Given the description of an element on the screen output the (x, y) to click on. 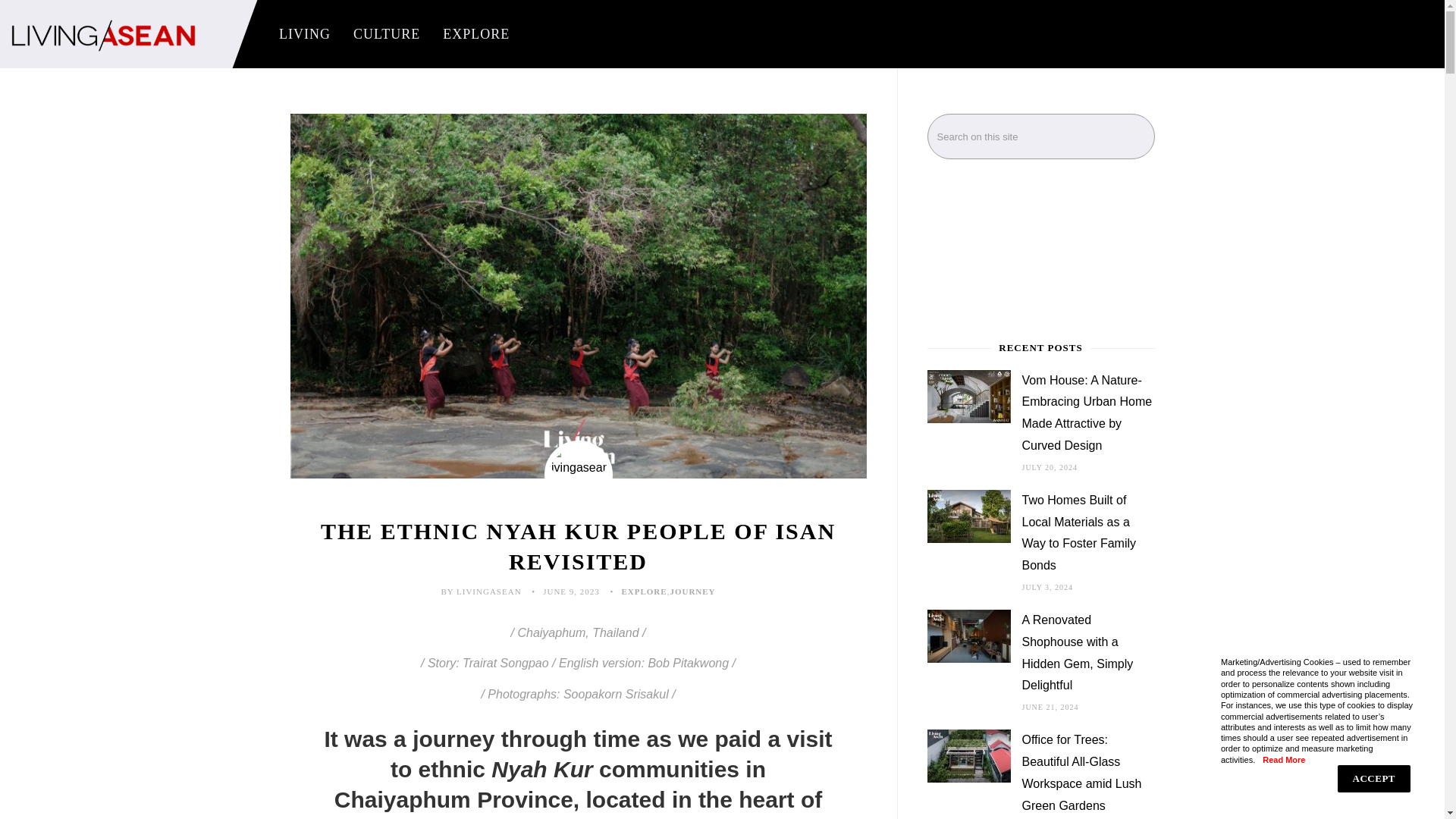
ACCEPT (1374, 778)
THE ETHNIC NYAH KUR PEOPLE OF ISAN REVISITED (577, 546)
JOURNEY (691, 591)
EXPLORE (475, 33)
LIVING (304, 33)
A Renovated Shophouse with a Hidden Gem, Simply Delightful (1088, 652)
CULTURE (386, 33)
EXPLORE (643, 591)
